Given the description of an element on the screen output the (x, y) to click on. 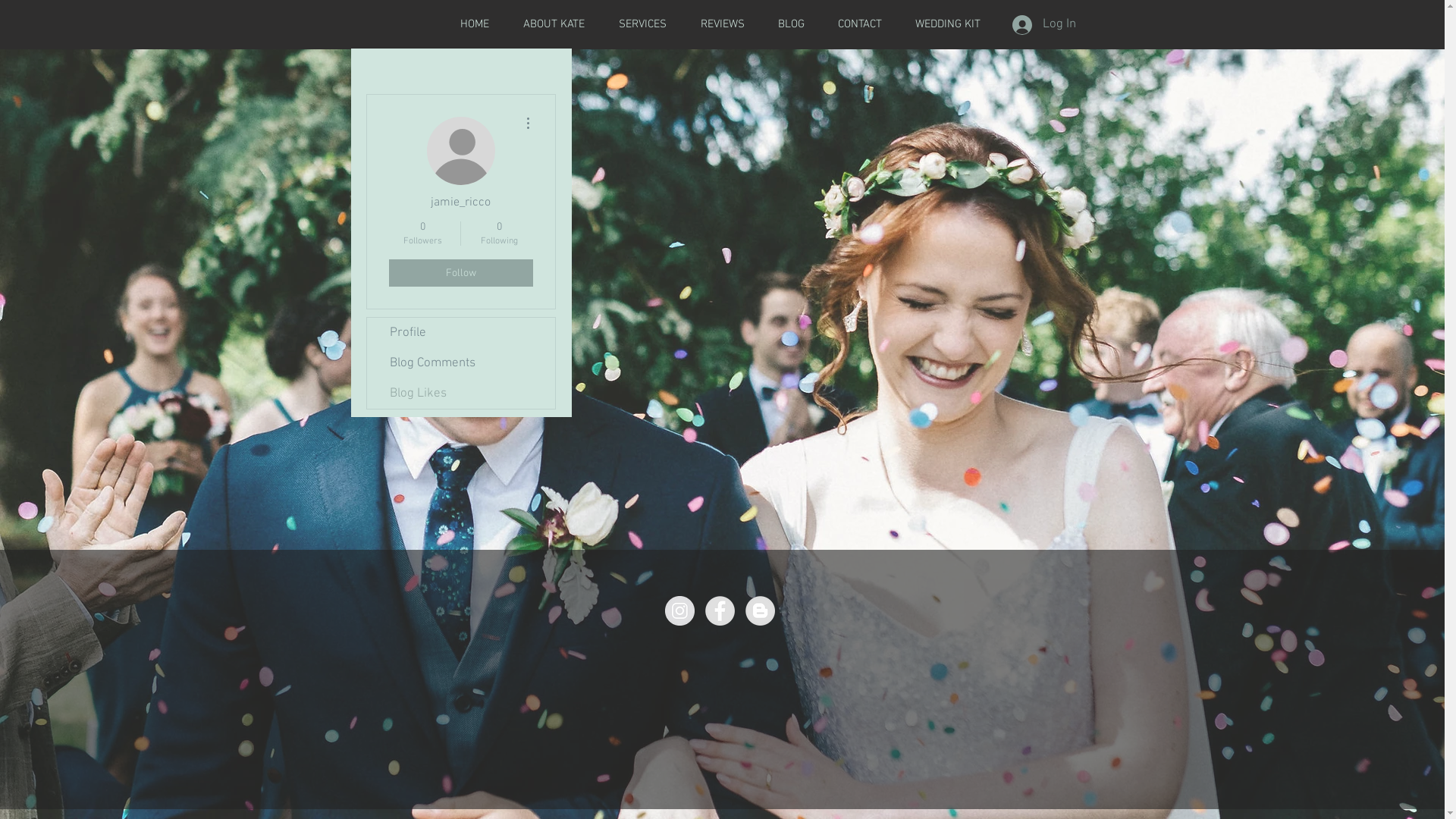
Blog Likes Element type: text (461, 393)
BLOG Element type: text (791, 24)
HOME Element type: text (473, 24)
WEDDING KIT Element type: text (946, 24)
REVIEWS Element type: text (722, 24)
Log In Element type: text (1043, 24)
CONTACT Element type: text (858, 24)
ABOUT KATE Element type: text (554, 24)
Blog Comments Element type: text (461, 363)
0
Followers Element type: text (421, 233)
0
Following Element type: text (499, 233)
SERVICES Element type: text (643, 24)
Follow Element type: text (460, 272)
Profile Element type: text (461, 332)
